Given the description of an element on the screen output the (x, y) to click on. 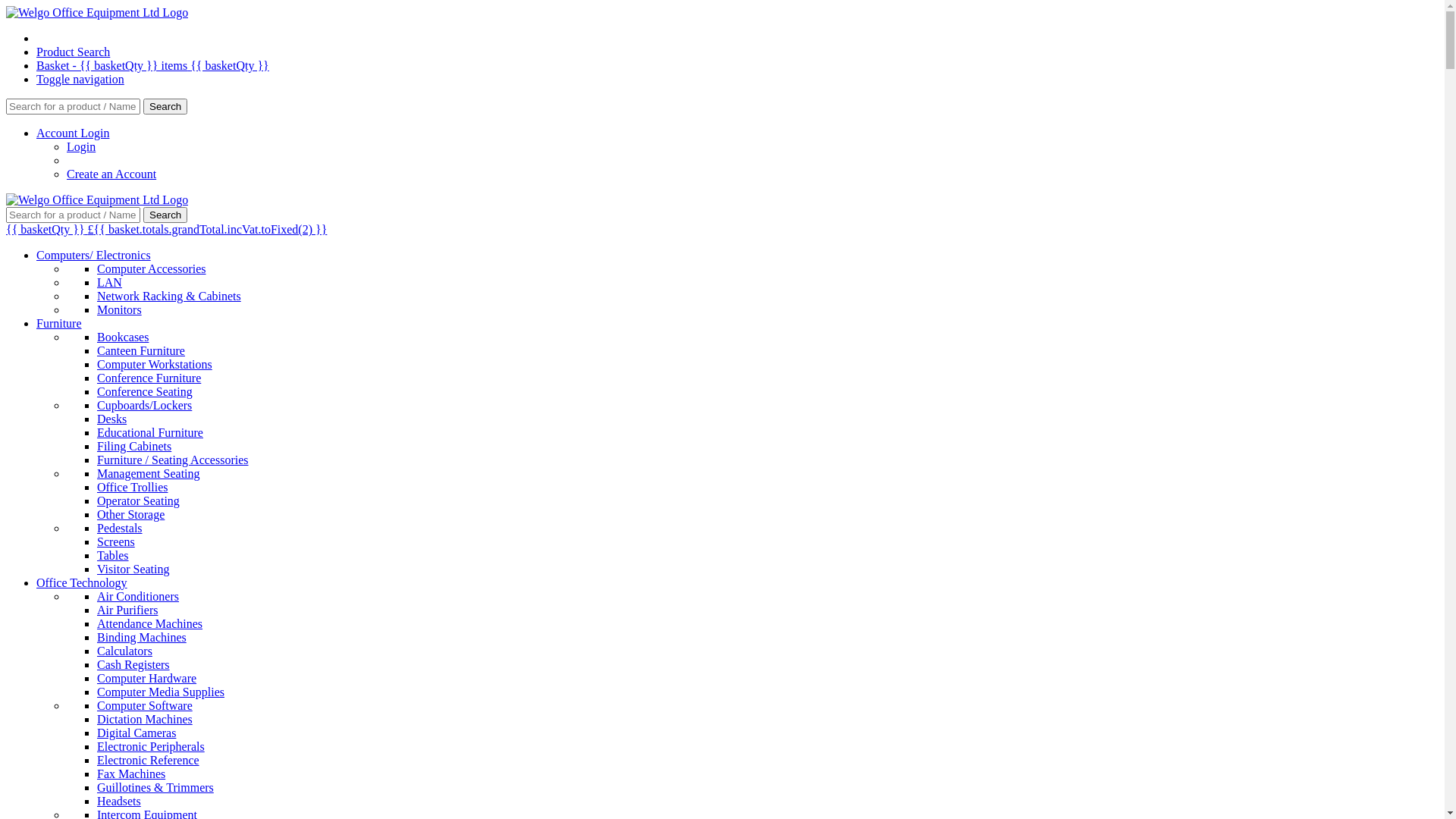
Fax Machines Element type: text (131, 773)
Computer Hardware Element type: text (146, 677)
Digital Cameras Element type: text (136, 732)
Furniture / Seating Accessories Element type: text (172, 459)
Management Seating Element type: text (148, 473)
LAN Element type: text (109, 282)
Conference Furniture Element type: text (148, 377)
Computers/ Electronics Element type: text (93, 254)
Headsets Element type: text (119, 800)
Office Trollies Element type: text (132, 486)
Bookcases Element type: text (122, 336)
Dictation Machines Element type: text (144, 718)
Computer Accessories Element type: text (151, 268)
Operator Seating Element type: text (138, 500)
Visitor Seating Element type: text (133, 568)
Filing Cabinets Element type: text (134, 445)
Furniture Element type: text (58, 322)
Educational Furniture Element type: text (150, 432)
Other Storage Element type: text (130, 514)
Canteen Furniture Element type: text (141, 350)
Guillotines & Trimmers Element type: text (155, 787)
Search Element type: text (165, 214)
Cash Registers Element type: text (133, 664)
Desks Element type: text (111, 418)
Air Conditioners Element type: text (137, 595)
Electronic Reference Element type: text (148, 759)
Create an Account Element type: text (111, 173)
Pedestals Element type: text (119, 527)
Network Racking & Cabinets Element type: text (169, 295)
Toggle navigation Element type: text (80, 78)
Electronic Peripherals Element type: text (150, 746)
Cupboards/Lockers Element type: text (144, 404)
Product Search Element type: text (72, 51)
Tables Element type: text (112, 555)
Monitors Element type: text (119, 309)
Office Technology Element type: text (81, 582)
Screens Element type: text (115, 541)
Login Element type: text (80, 146)
Computer Workstations Element type: text (154, 363)
Attendance Machines Element type: text (149, 623)
Account Login Element type: text (72, 132)
Search Element type: text (165, 106)
Conference Seating Element type: text (144, 391)
Computer Media Supplies Element type: text (160, 691)
Calculators Element type: text (124, 650)
Computer Software Element type: text (144, 705)
Binding Machines Element type: text (141, 636)
Air Purifiers Element type: text (127, 609)
